Given the description of an element on the screen output the (x, y) to click on. 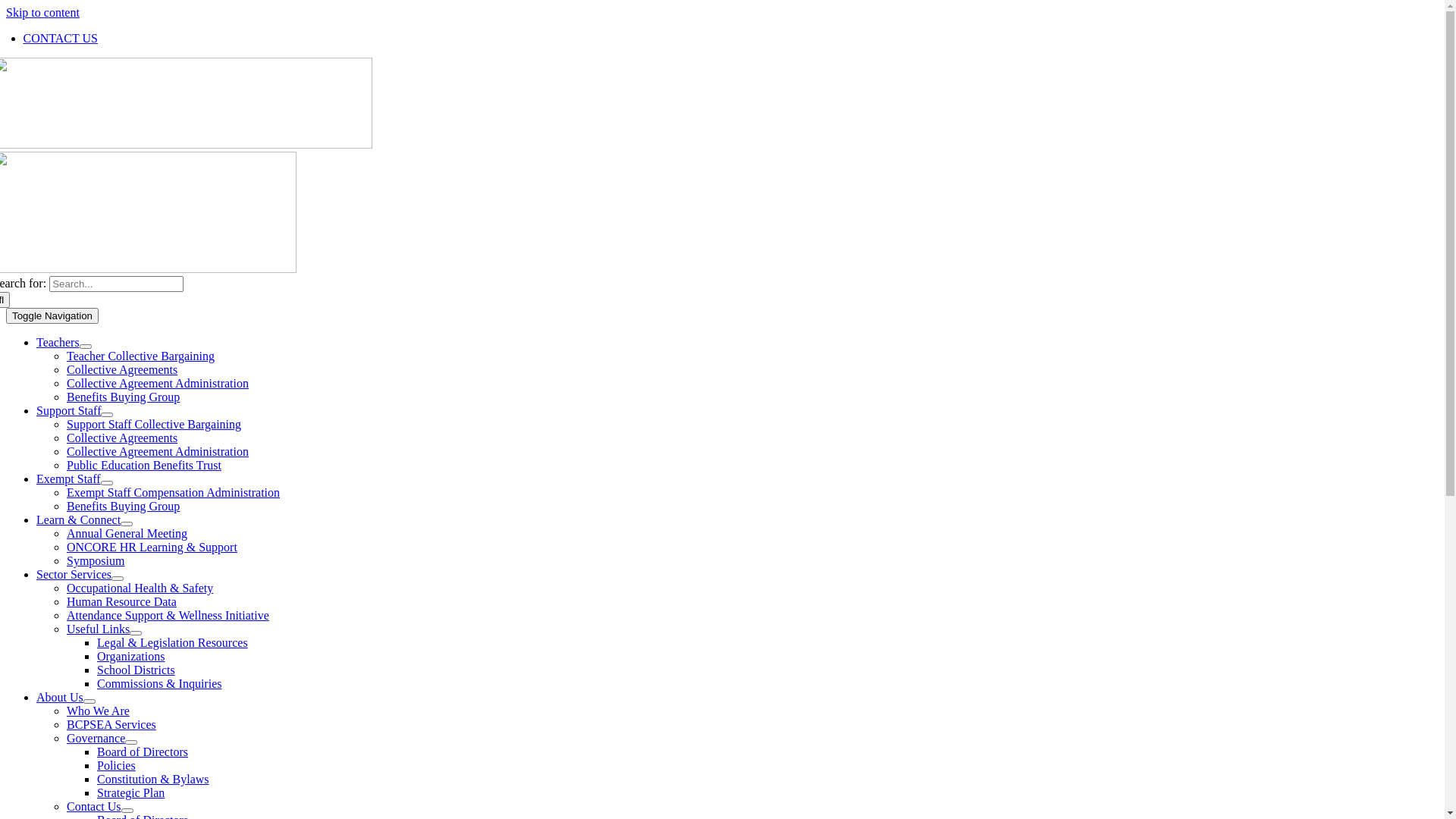
Support Staff Collective Bargaining Element type: text (153, 423)
Support Staff Element type: text (68, 410)
Symposium Element type: text (95, 560)
Collective Agreements Element type: text (121, 437)
Human Resource Data Element type: text (121, 601)
Collective Agreement Administration Element type: text (157, 382)
Occupational Health & Safety Element type: text (139, 587)
Constitution & Bylaws Element type: text (153, 778)
Legal & Legislation Resources Element type: text (172, 642)
CONTACT US Element type: text (59, 37)
Teachers Element type: text (57, 341)
Policies Element type: text (116, 765)
Useful Links Element type: text (97, 628)
BCPSEA Services Element type: text (111, 724)
Collective Agreements Element type: text (121, 369)
ONCORE HR Learning & Support Element type: text (151, 546)
Public Education Benefits Trust Element type: text (143, 464)
Strategic Plan Element type: text (130, 792)
Benefits Buying Group Element type: text (122, 396)
Benefits Buying Group Element type: text (122, 505)
Contact Us Element type: text (93, 806)
Who We Are Element type: text (97, 710)
Governance Element type: text (95, 737)
Exempt Staff Element type: text (68, 478)
Exempt Staff Compensation Administration Element type: text (172, 492)
Collective Agreement Administration Element type: text (157, 451)
Board of Directors Element type: text (142, 751)
Teacher Collective Bargaining Element type: text (140, 355)
Organizations Element type: text (130, 655)
Attendance Support & Wellness Initiative Element type: text (167, 614)
Commissions & Inquiries Element type: text (159, 683)
School Districts Element type: text (136, 669)
Learn & Connect Element type: text (78, 519)
About Us Element type: text (59, 696)
Annual General Meeting Element type: text (126, 533)
Skip to content Element type: text (42, 12)
Toggle Navigation Element type: text (52, 315)
Sector Services Element type: text (73, 573)
